Given the description of an element on the screen output the (x, y) to click on. 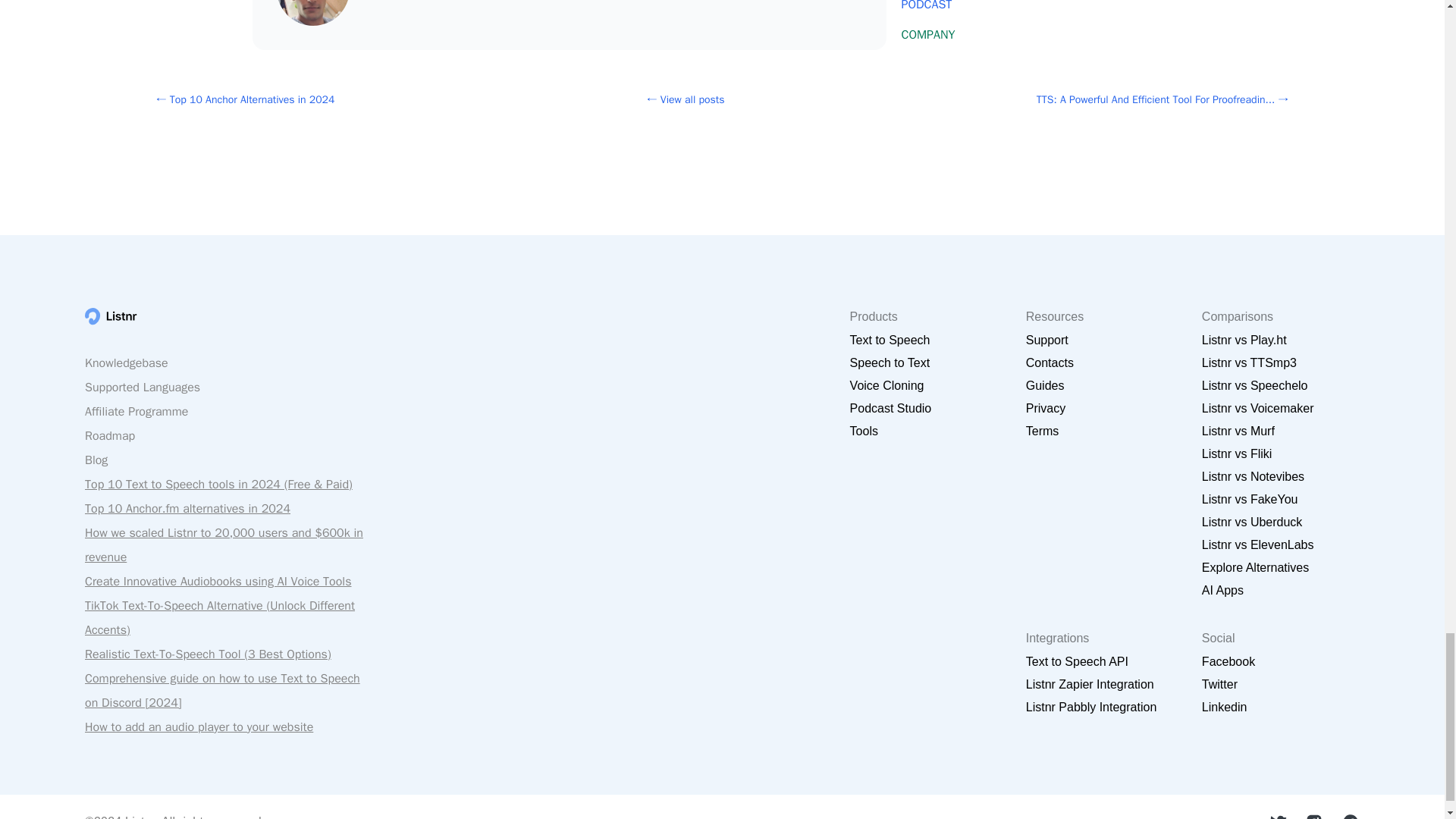
Text to Speech (890, 340)
Roadmap (109, 435)
Supported Languages (142, 386)
Create Innovative Audiobooks using AI Voice Tools (218, 580)
Blog (95, 459)
Speech to Text (890, 362)
Affiliate Programme (135, 410)
Knowledgebase (126, 362)
Top 10 Anchor.fm alternatives in 2024 (186, 507)
Voice Cloning (887, 385)
How to add an audio player to your website (198, 726)
